Given the description of an element on the screen output the (x, y) to click on. 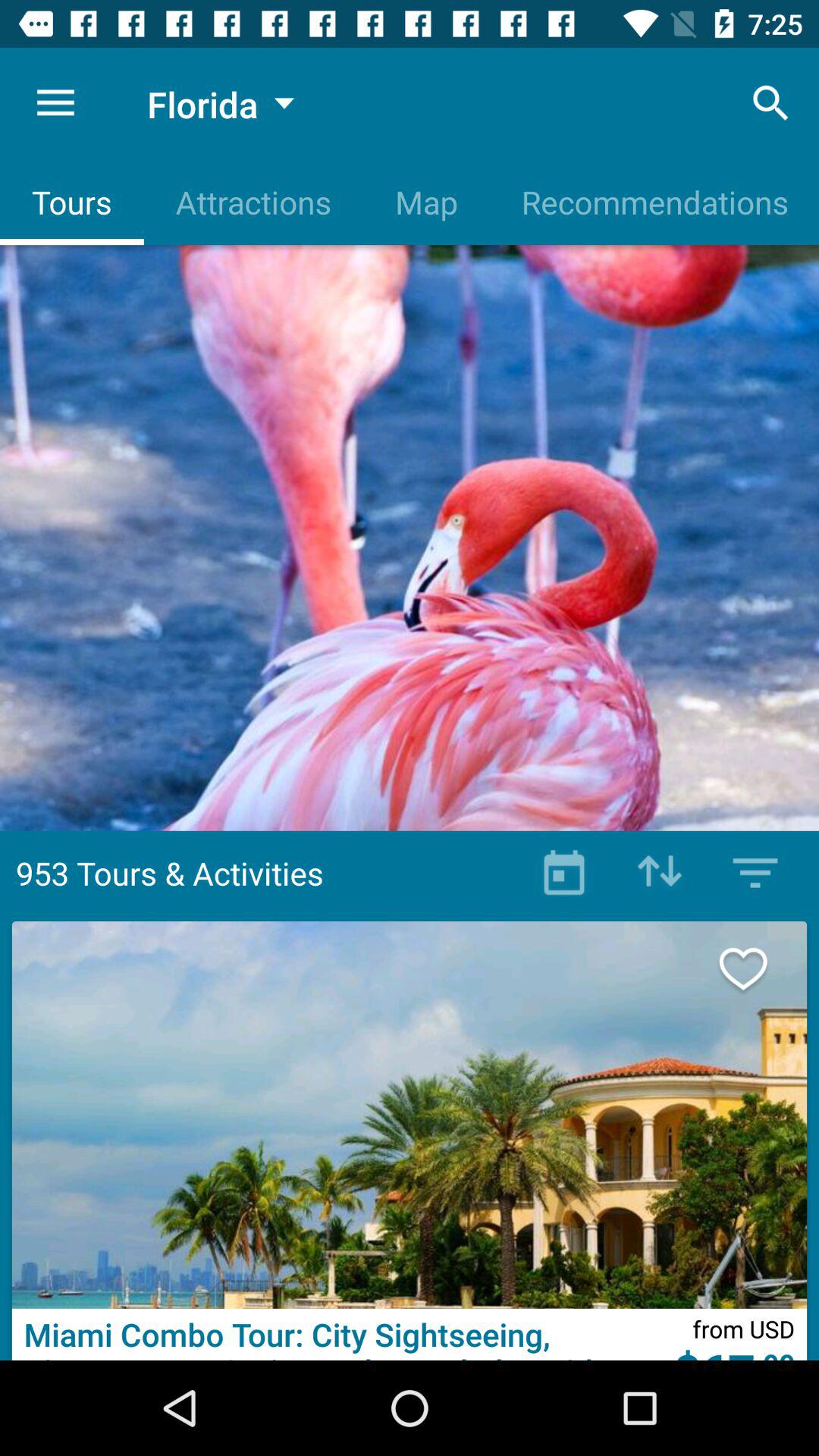
go to meanu (755, 872)
